Given the description of an element on the screen output the (x, y) to click on. 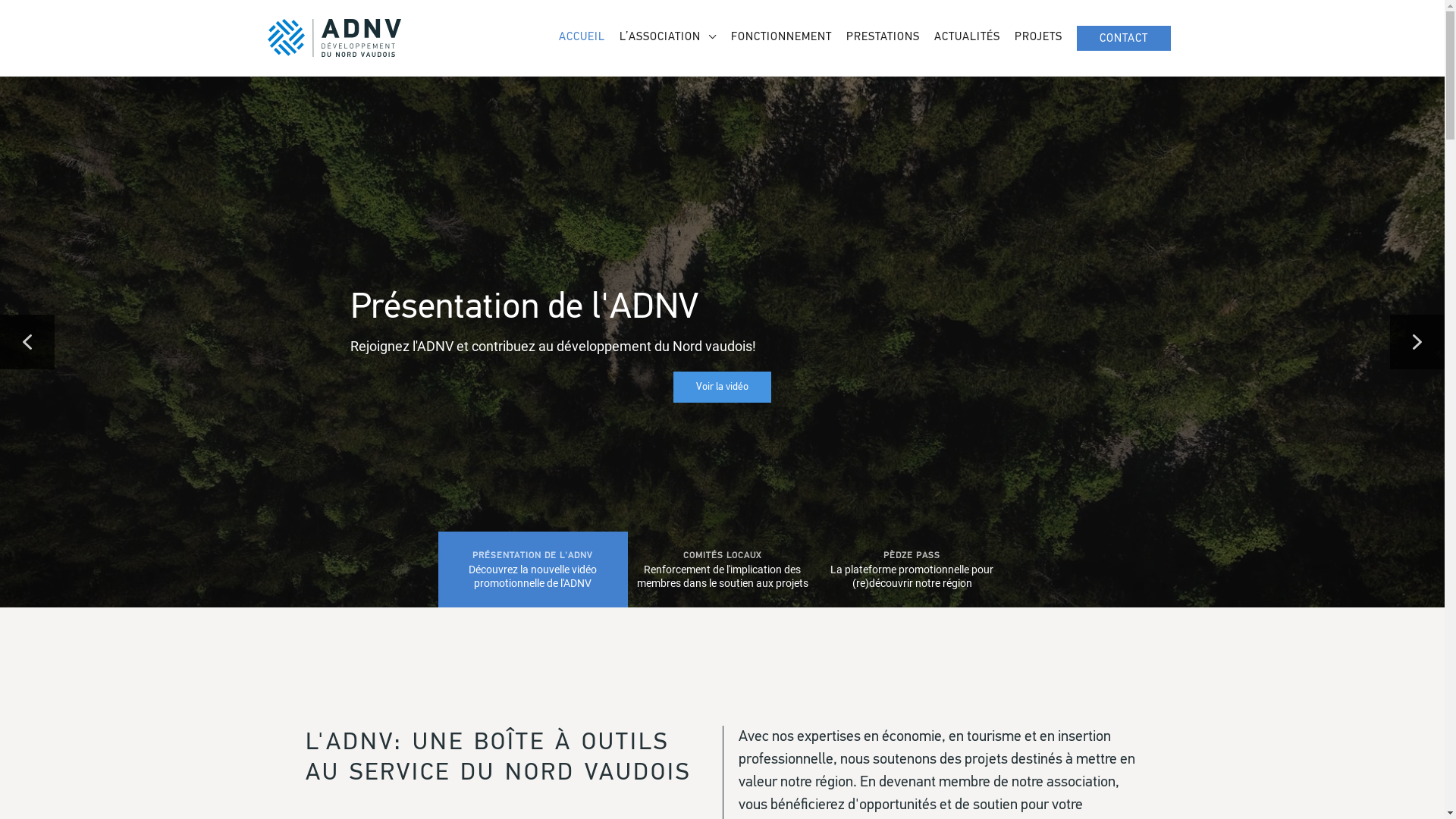
PRESTATIONS Element type: text (882, 37)
ACCUEIL Element type: text (580, 37)
FONCTIONNEMENT Element type: text (780, 37)
CONTACT Element type: text (1123, 37)
PROJETS Element type: text (1038, 37)
